Given the description of an element on the screen output the (x, y) to click on. 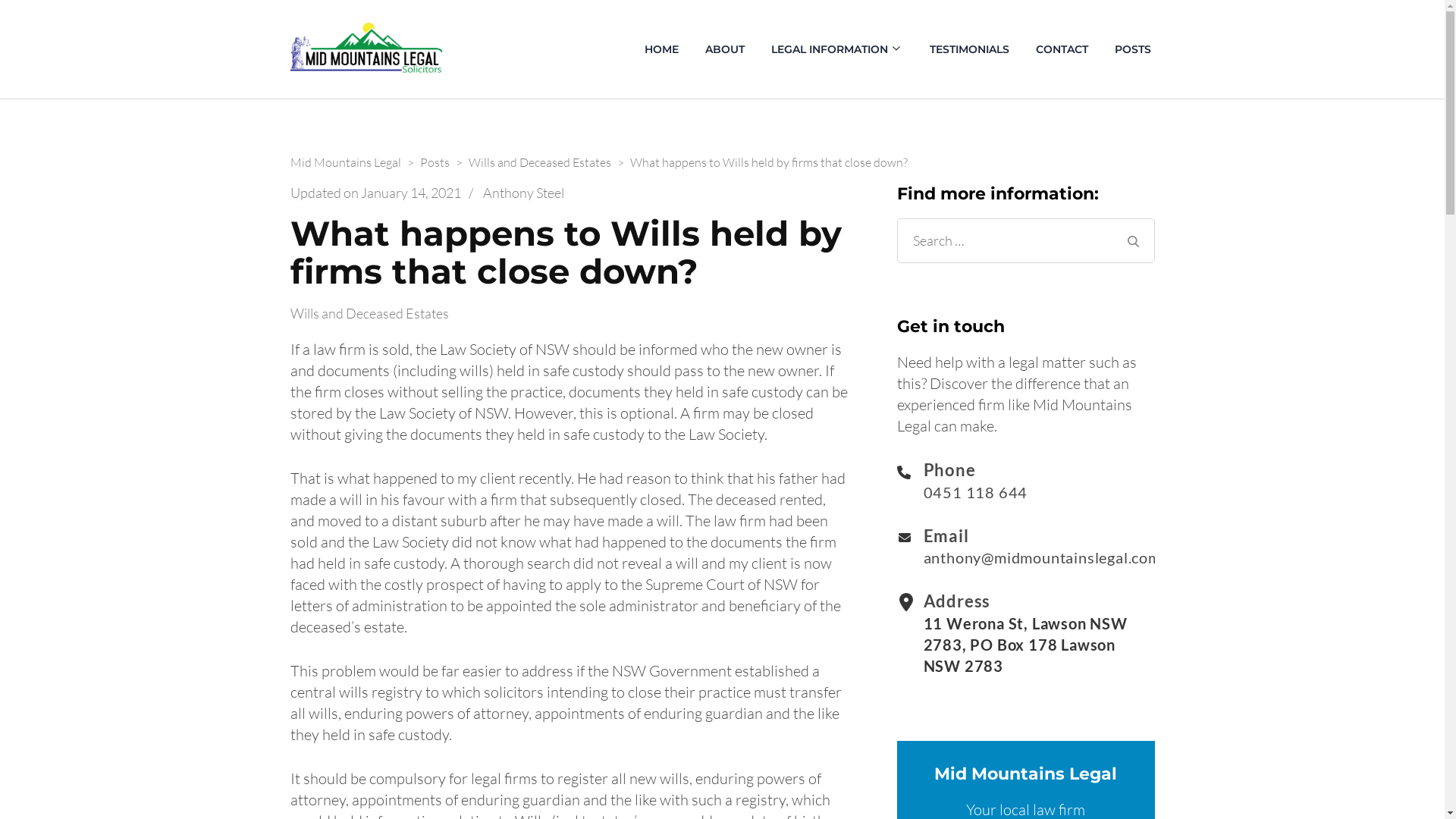
TESTIMONIALS Element type: text (968, 48)
Wills and Deceased Estates Element type: text (379, 313)
HOME Element type: text (660, 48)
CONTACT Element type: text (1061, 48)
Mid Mountains Legal Element type: text (344, 161)
What happens to Wills held by firms that close down? Element type: text (767, 161)
anthony@midmountainslegal.com.au Element type: text (1052, 557)
Wills and Deceased Estates Element type: text (539, 161)
Search Element type: text (1132, 241)
0451 118 644 Element type: text (975, 492)
Posts Element type: text (434, 161)
Anthony Steel Element type: text (522, 192)
POSTS Element type: text (1132, 48)
LEGAL INFORMATION Element type: text (829, 48)
ABOUT Element type: text (723, 48)
January 14, 2021 Element type: text (410, 192)
